Given the description of an element on the screen output the (x, y) to click on. 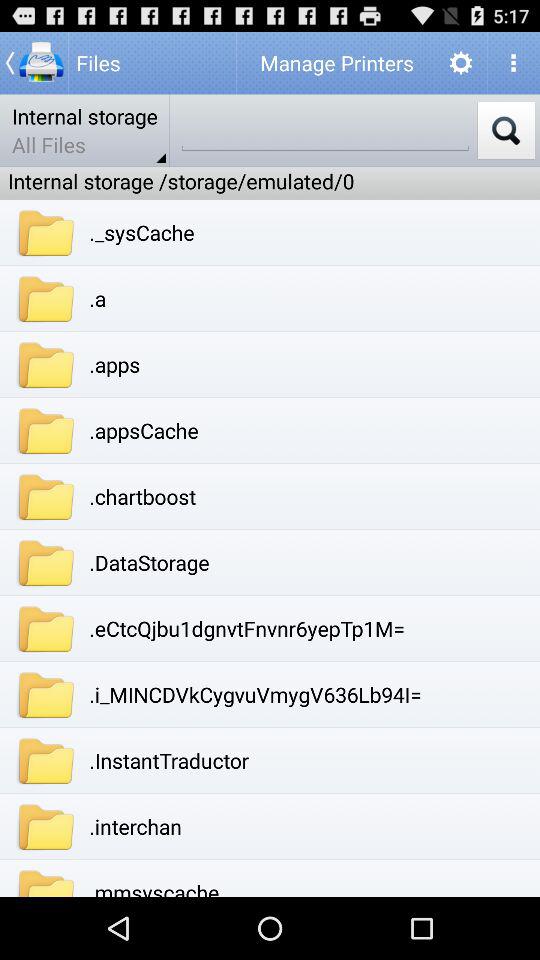
jump to .apps item (114, 364)
